Given the description of an element on the screen output the (x, y) to click on. 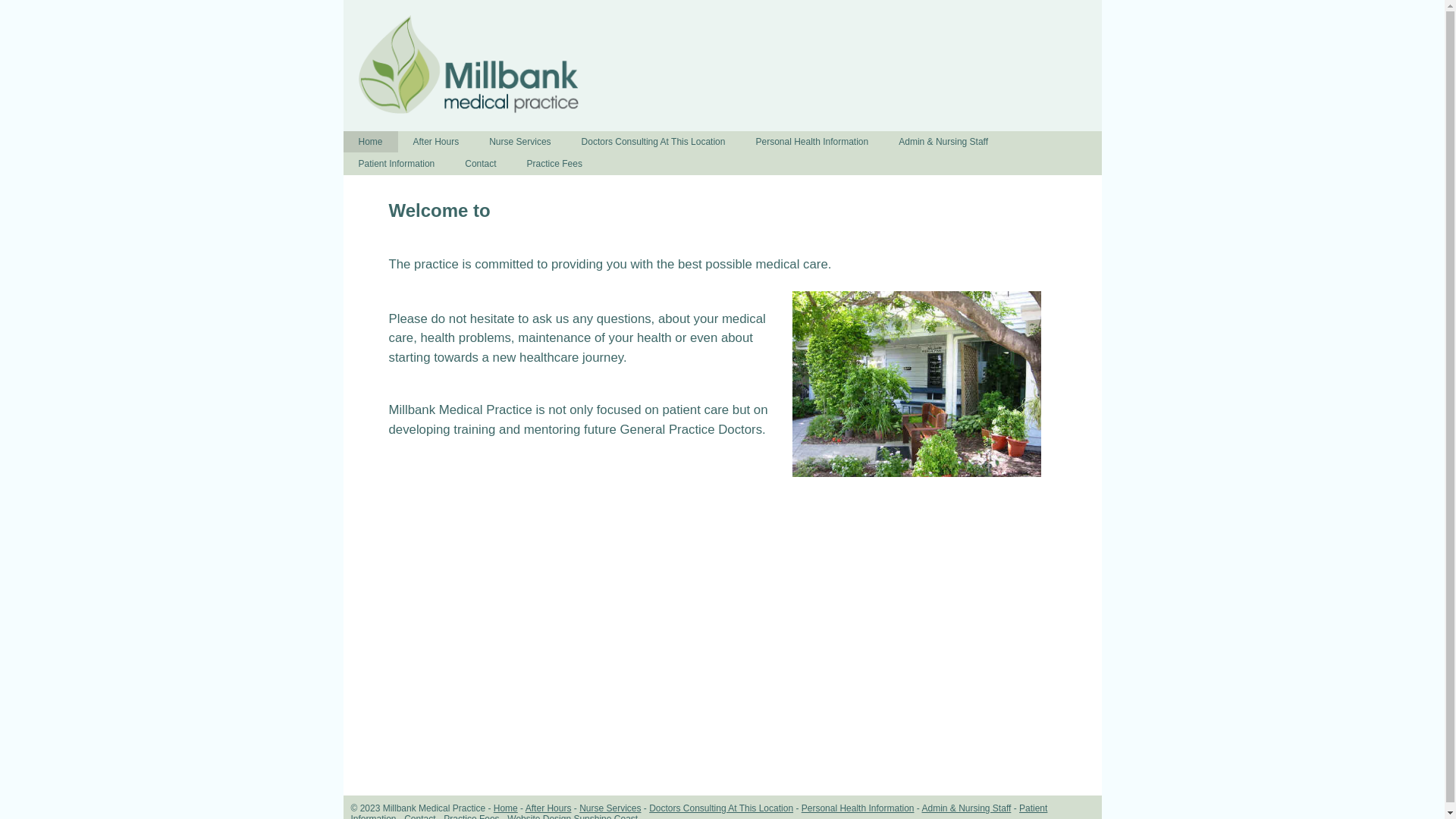
Home Element type: text (505, 808)
Doctors Consulting At This Location Element type: text (653, 141)
Admin & Nursing Staff Element type: text (966, 808)
Personal Health Information Element type: text (811, 141)
Personal Health Information Element type: text (857, 808)
Admin & Nursing Staff Element type: text (943, 141)
Patient Information Element type: text (395, 163)
Practice Fees Element type: text (554, 163)
After Hours Element type: text (548, 808)
Millbank Medical Practice Element type: hover (467, 64)
Contact Element type: text (480, 163)
Doctors Consulting At This Location Element type: text (721, 808)
Home Element type: text (369, 141)
Nurse Services Element type: text (609, 808)
Nurse Services Element type: text (519, 141)
After Hours Element type: text (436, 141)
